Given the description of an element on the screen output the (x, y) to click on. 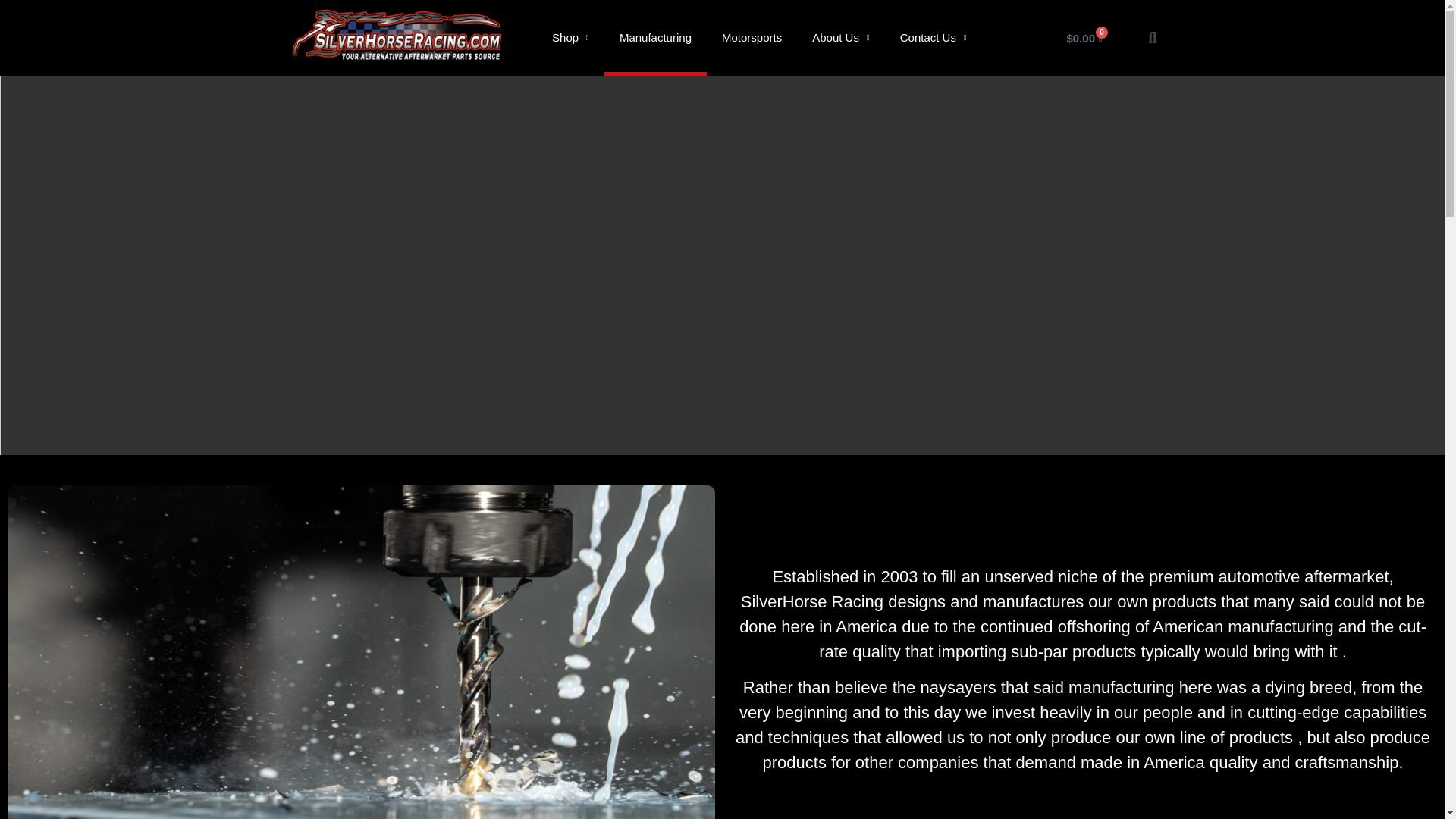
About Us (840, 38)
Manufacturing (655, 38)
Motorsports (751, 38)
Contact Us (933, 38)
Shop (570, 38)
